Given the description of an element on the screen output the (x, y) to click on. 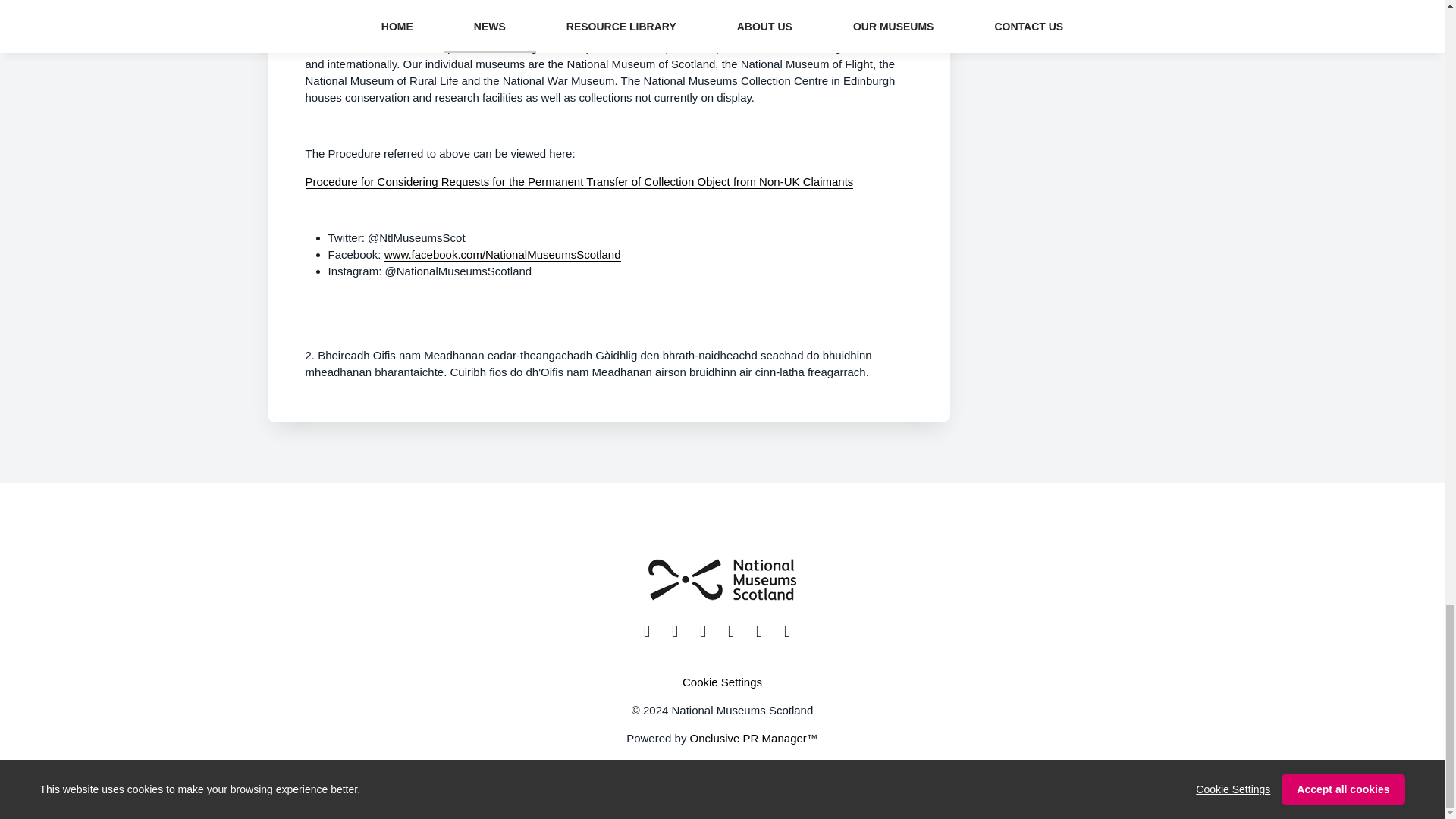
Twitter (679, 631)
Onclusive PR Manager (748, 738)
Email (792, 631)
Cookie Settings (721, 682)
Pinterest (764, 631)
Logo for main website - click to access (721, 579)
Facebook (652, 631)
YouTube (736, 631)
Instagram (708, 631)
